Given the description of an element on the screen output the (x, y) to click on. 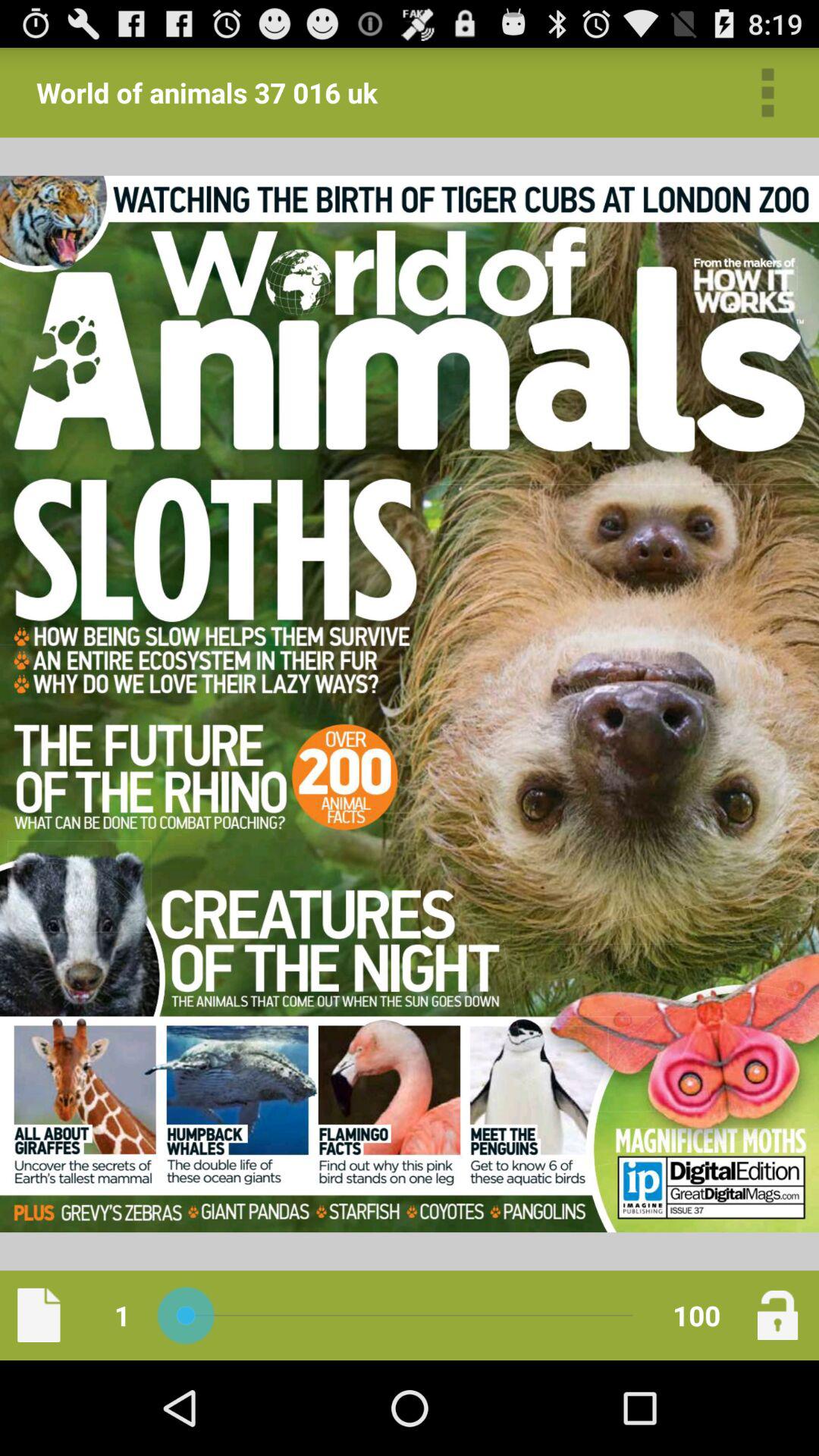
click category (767, 92)
